Given the description of an element on the screen output the (x, y) to click on. 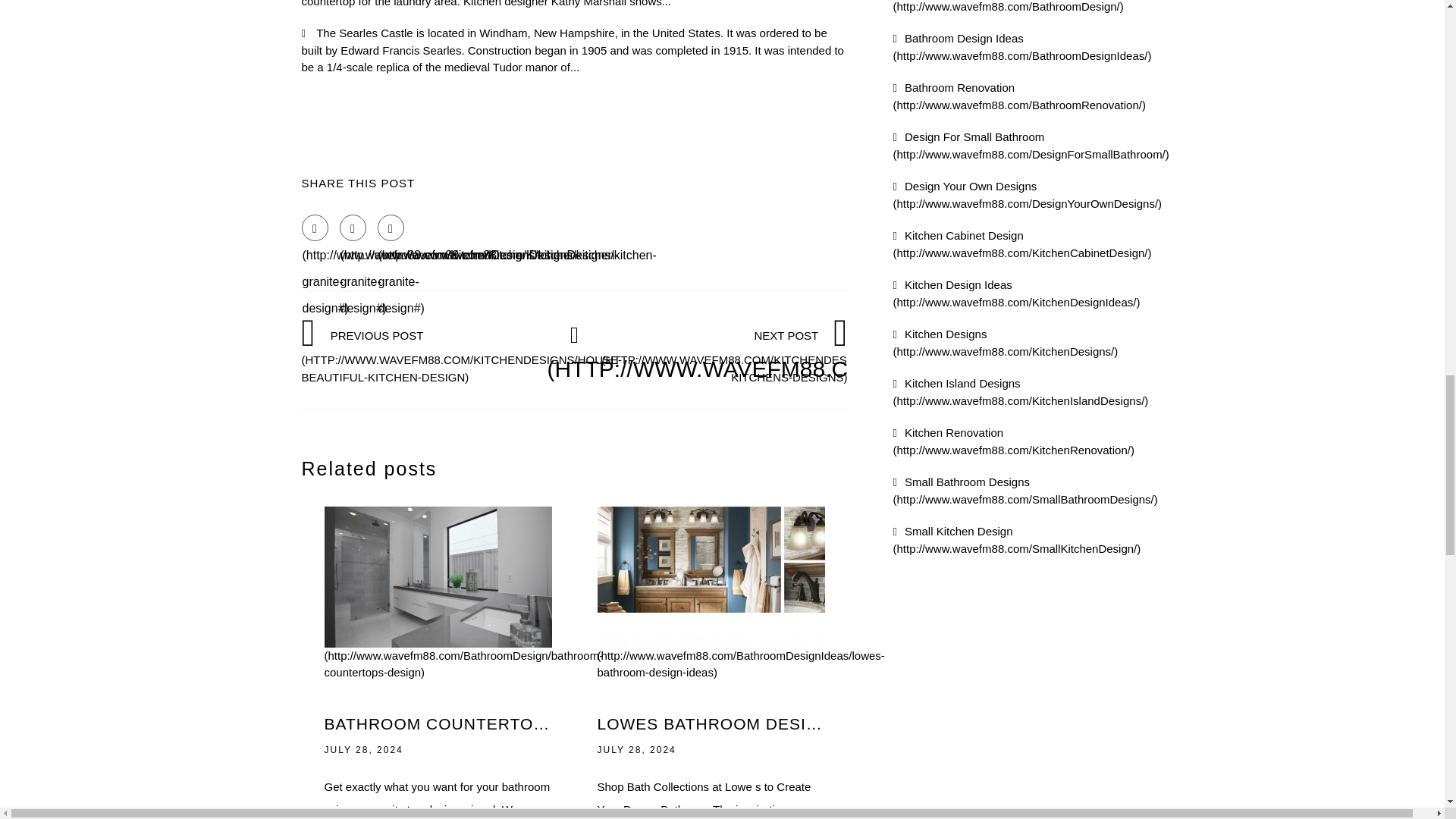
BATHROOM COUNTERTOPS DESIGN (437, 723)
Facebook (315, 227)
PREVIOUS POST (462, 355)
Lowes Bathroom Design Ideas (740, 624)
View all posts filed under Bathroom Design Ideas (1022, 46)
View all posts filed under Kitchen Cabinet Design (1022, 244)
View all posts filed under Design Your Own Designs (1027, 194)
View all posts filed under Bathroom Renovation (1019, 96)
Google Plus (390, 227)
Twitter (352, 227)
View all posts filed under Bathroom Design (1008, 6)
LOWES BATHROOM DESIGN IDEAS (710, 723)
Bathroom countertops Design (464, 624)
View all posts filed under Kitchen Design Ideas (1016, 293)
View all posts filed under Design For Small Bathroom (1031, 145)
